Given the description of an element on the screen output the (x, y) to click on. 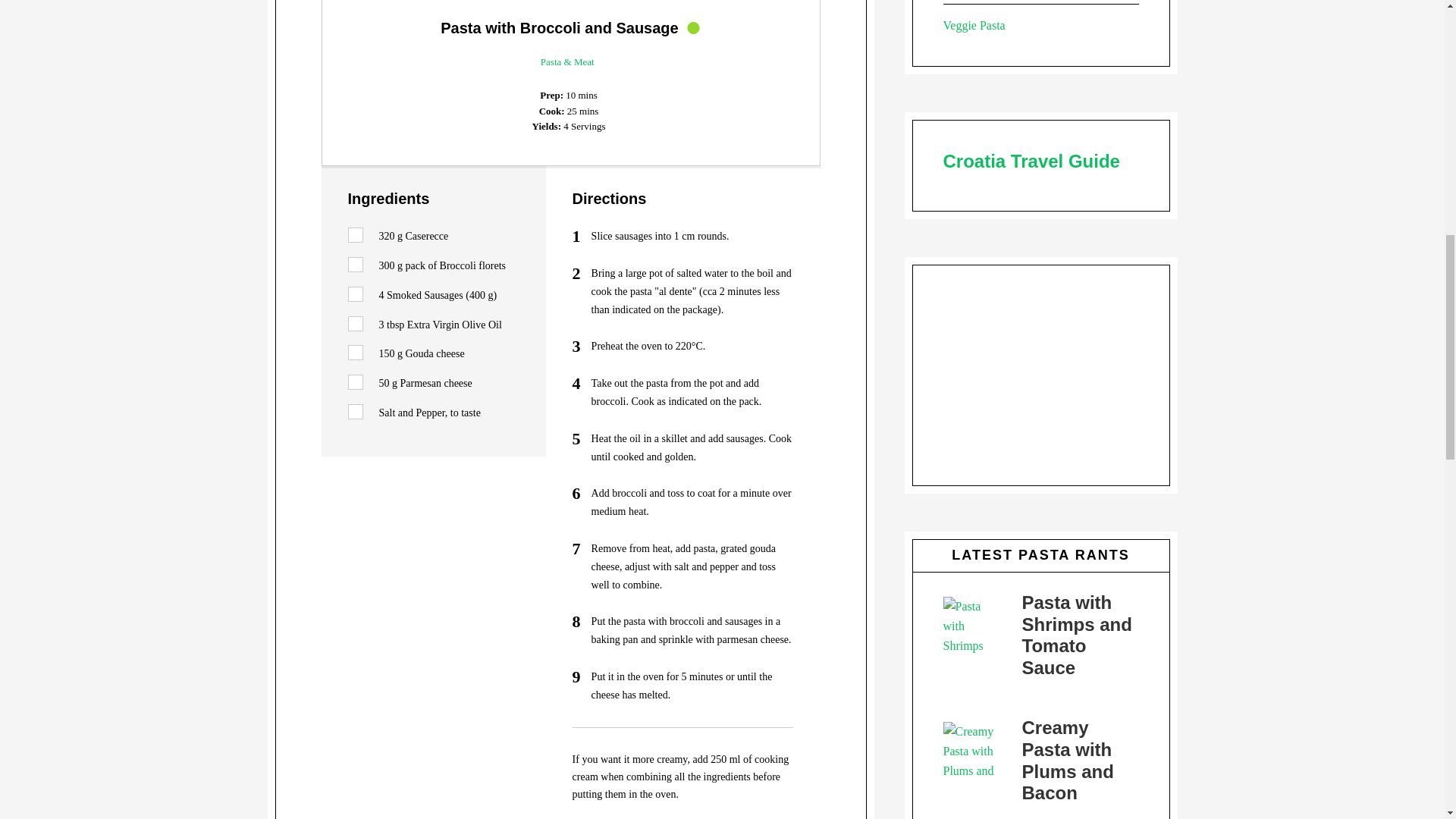
Difficulty Level: Easy (692, 27)
Croatia travel guide (1031, 160)
Veggie Pasta (974, 24)
Croatia Travel Guide (1031, 160)
Creamy Pasta with Plums and Bacon (1067, 760)
Pasta with Shrimps and Tomato Sauce (1077, 635)
